Given the description of an element on the screen output the (x, y) to click on. 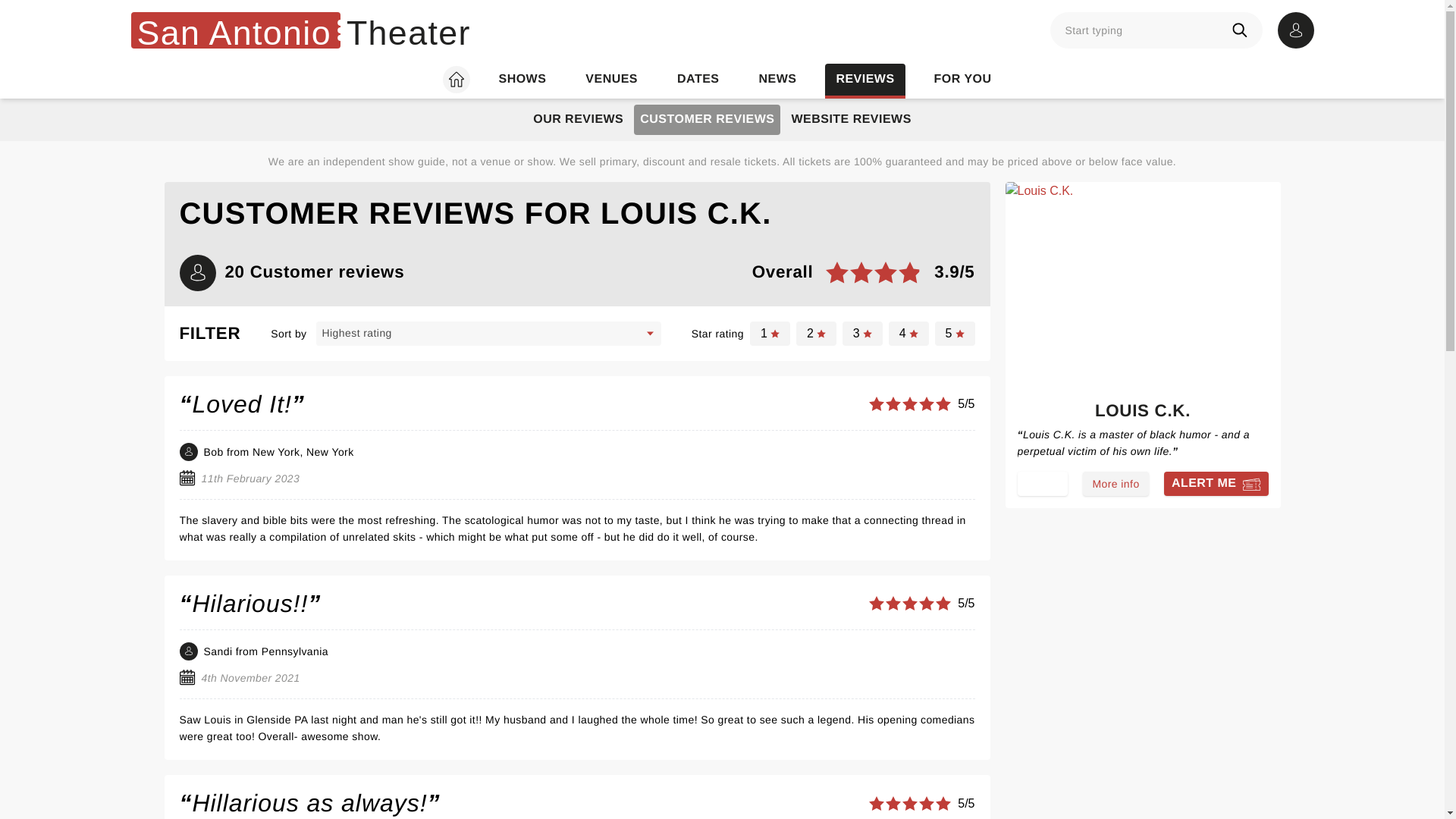
1 (769, 333)
NEWS (777, 80)
DATES (697, 80)
More info (1115, 483)
Open account options (1294, 30)
4 (908, 333)
WEBSITE REVIEWS (850, 119)
REVIEWS (864, 80)
5 (954, 333)
FOR YOU (963, 80)
LOUIS C.K. (1142, 414)
HOME (455, 79)
SHOWS (521, 80)
ALERT ME (1215, 483)
CUSTOMER REVIEWS (706, 119)
